Given the description of an element on the screen output the (x, y) to click on. 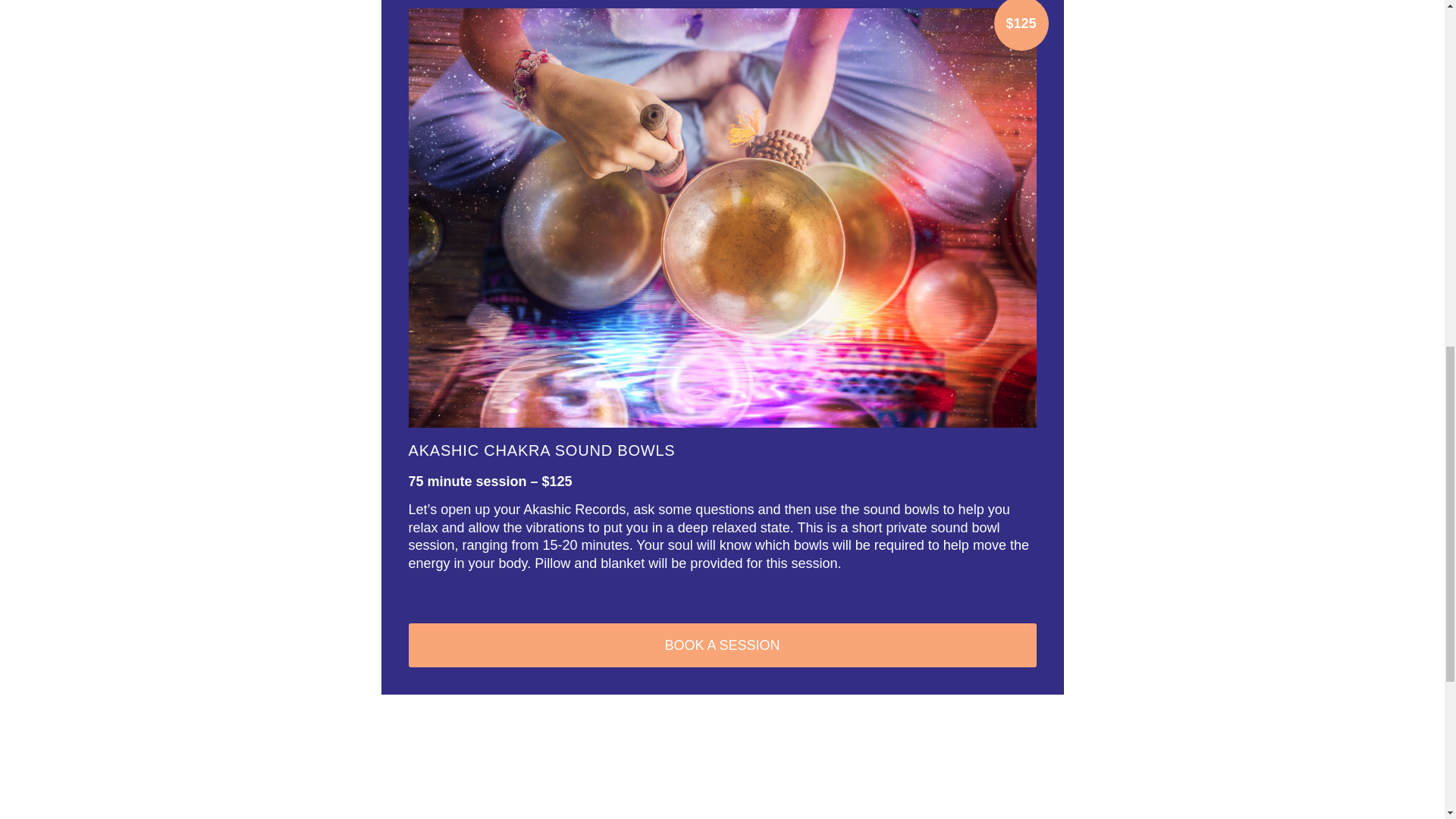
BOOK A SESSION (721, 645)
